Given the description of an element on the screen output the (x, y) to click on. 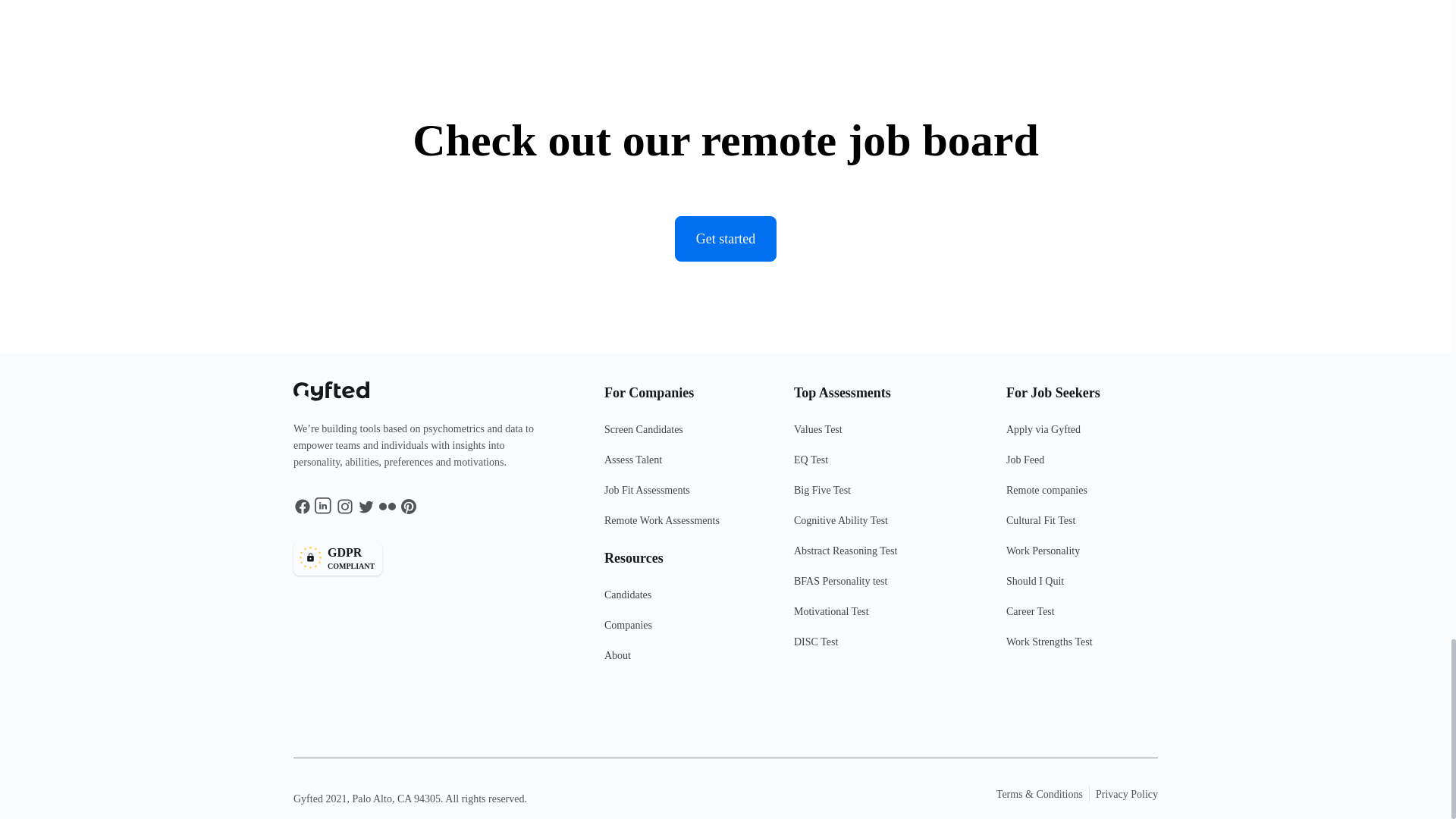
Remote Work Assessments (679, 526)
Get started (725, 238)
Job Fit Assessments (679, 496)
Screen Candidates (679, 435)
Assess Talent (679, 466)
Candidates (679, 601)
